Given the description of an element on the screen output the (x, y) to click on. 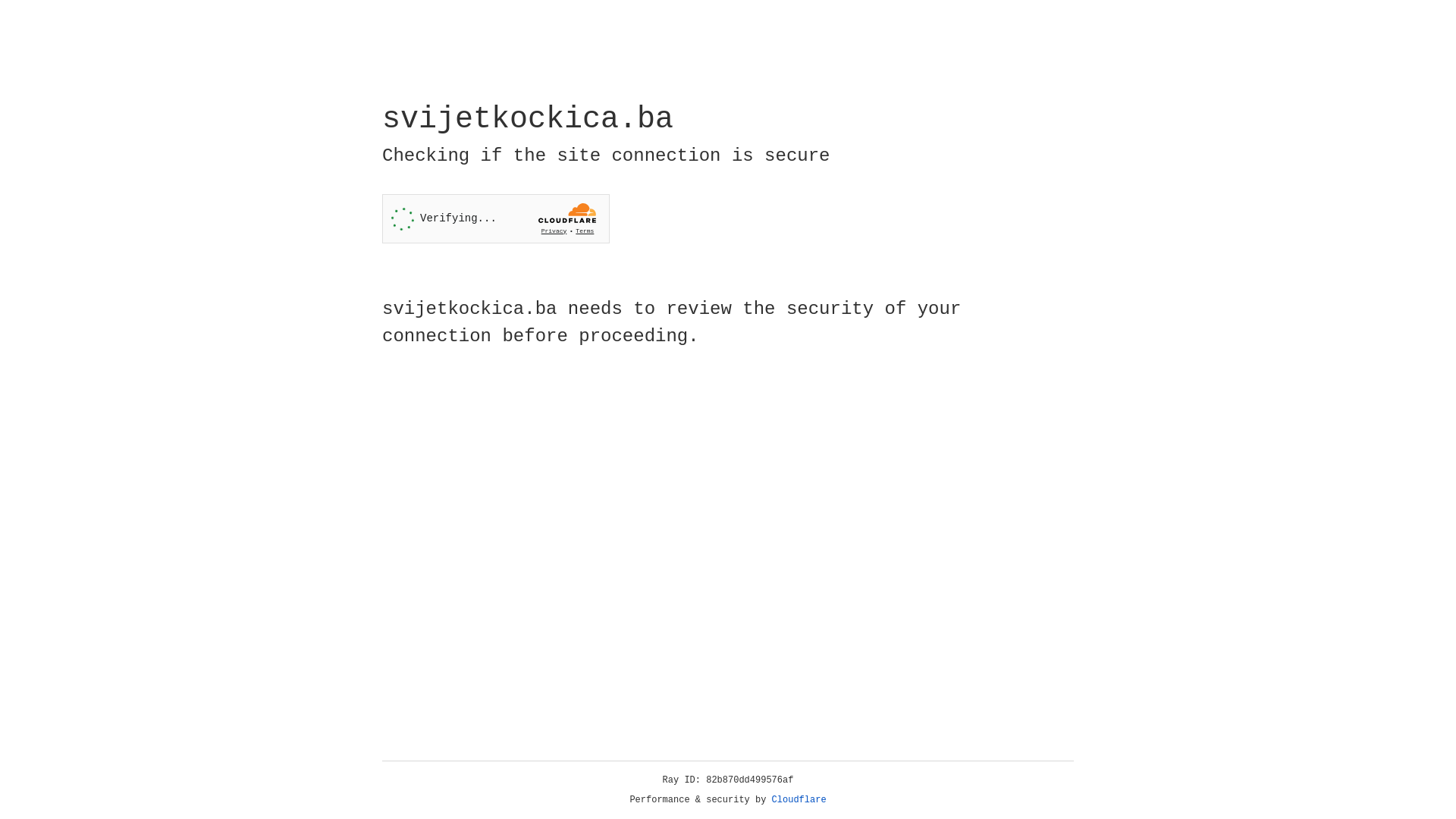
Cloudflare Element type: text (798, 799)
Widget containing a Cloudflare security challenge Element type: hover (495, 218)
